Given the description of an element on the screen output the (x, y) to click on. 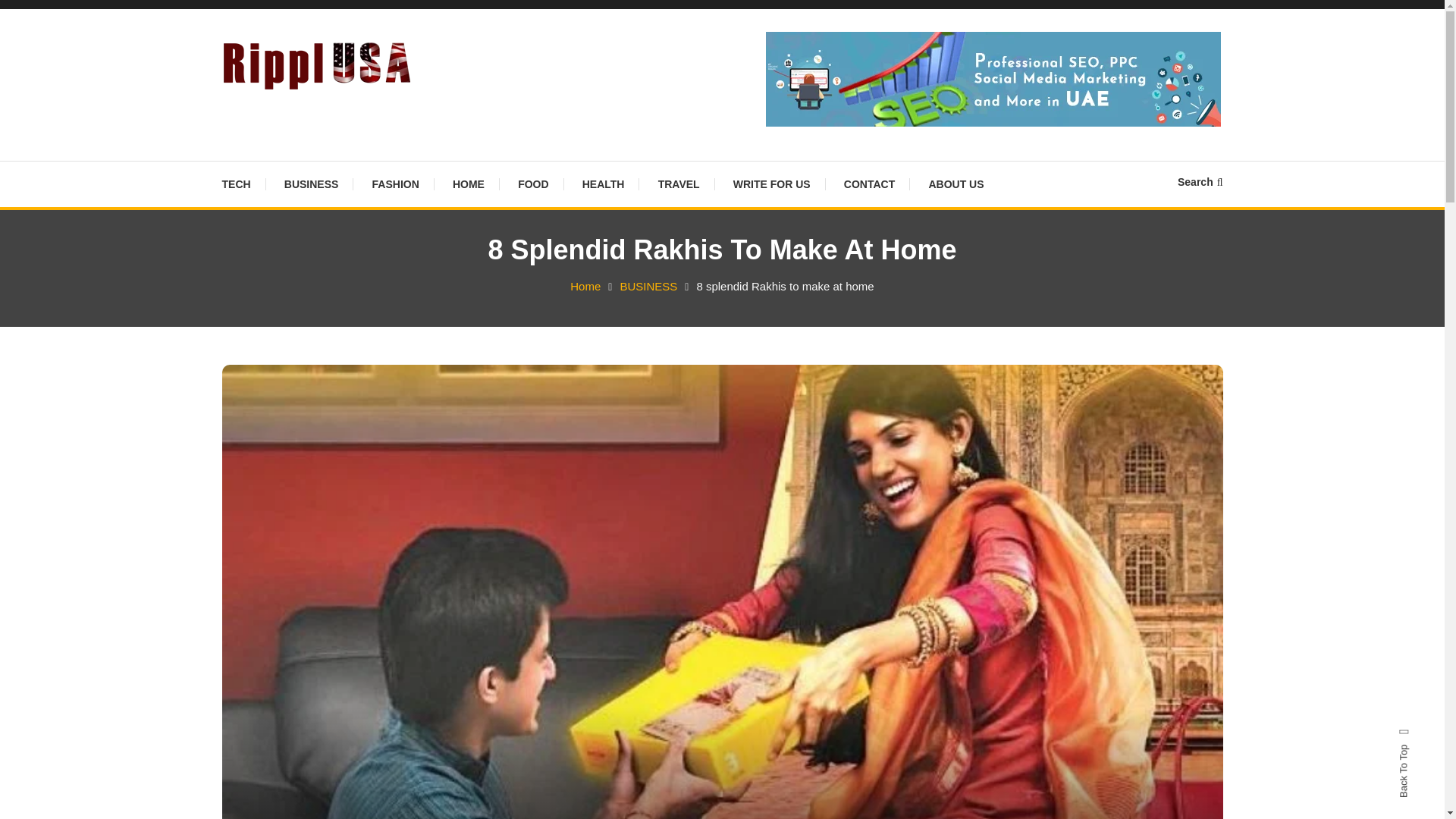
Rippl USA (288, 112)
BUSINESS (311, 184)
WRITE FOR US (771, 184)
TECH (242, 184)
ABOUT US (955, 184)
CONTACT (869, 184)
Home (584, 286)
FOOD (532, 184)
HOME (468, 184)
Search (768, 432)
